Given the description of an element on the screen output the (x, y) to click on. 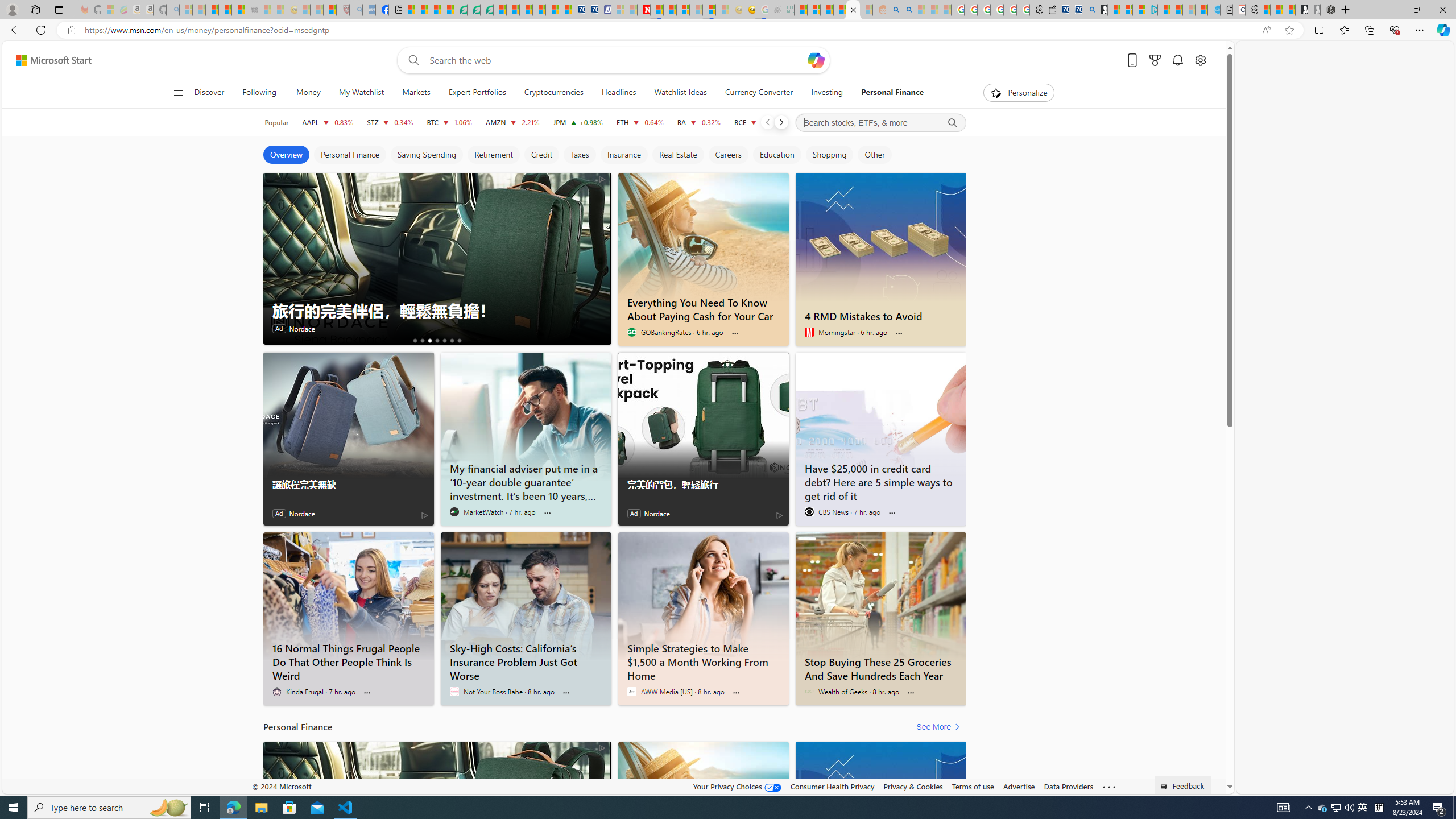
Popular (276, 121)
My Watchlist (361, 92)
GOBankingRates (631, 331)
Other (874, 154)
